Given the description of an element on the screen output the (x, y) to click on. 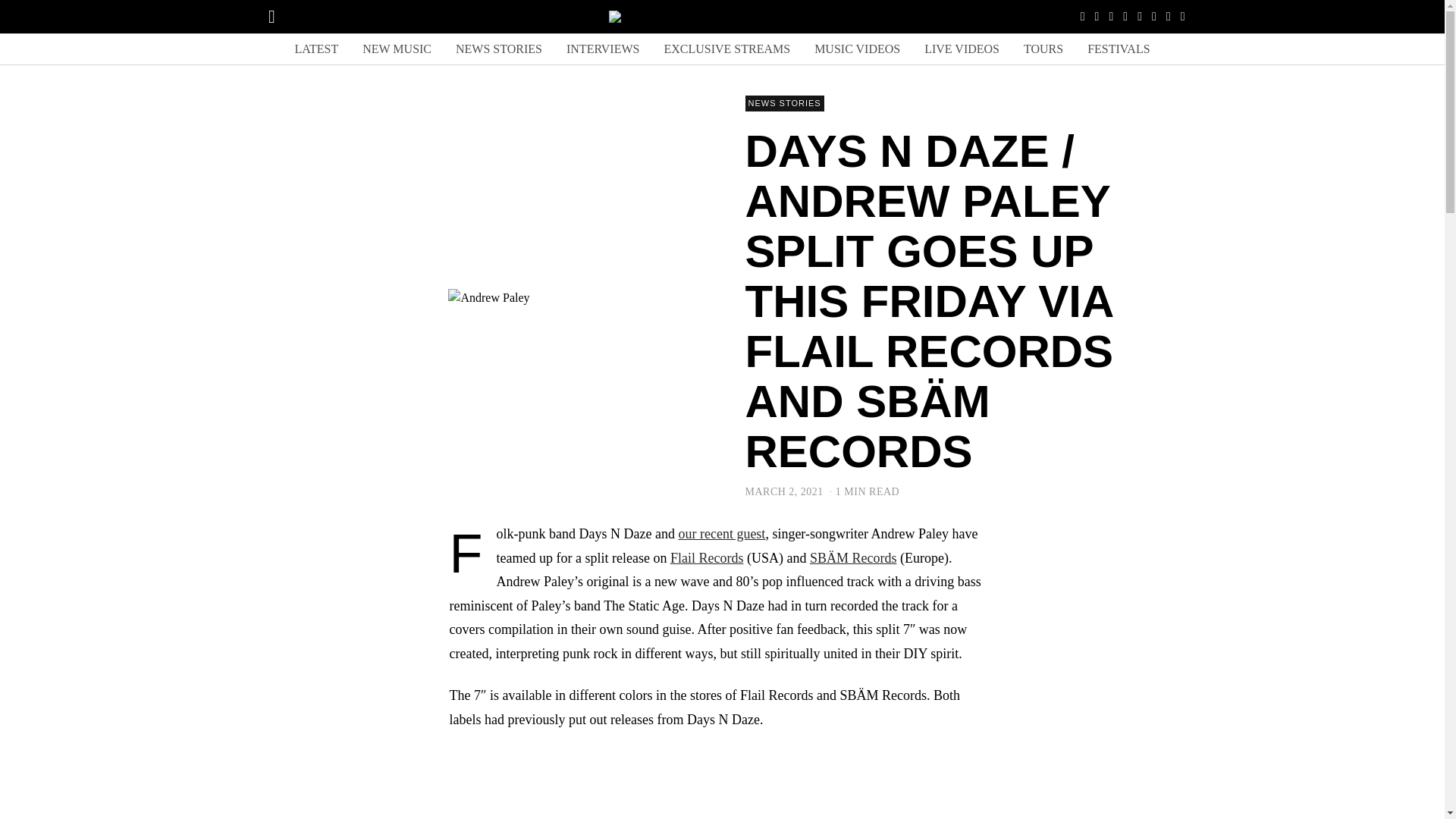
Exclusive Interviews with DIY artists (602, 49)
EXCLUSIVE STREAMS (726, 49)
Live Performances Videos (962, 49)
LIVE VIDEOS (962, 49)
MUSIC VIDEOS (857, 49)
Official Music Videos (857, 49)
NEW MUSIC (397, 49)
INTERVIEWS (602, 49)
NEWS STORIES (784, 103)
our recent guest (721, 533)
Music Festivals (1118, 49)
TOURS (1043, 49)
Flail Records (706, 557)
LATEST (316, 49)
FESTIVALS (1118, 49)
